Given the description of an element on the screen output the (x, y) to click on. 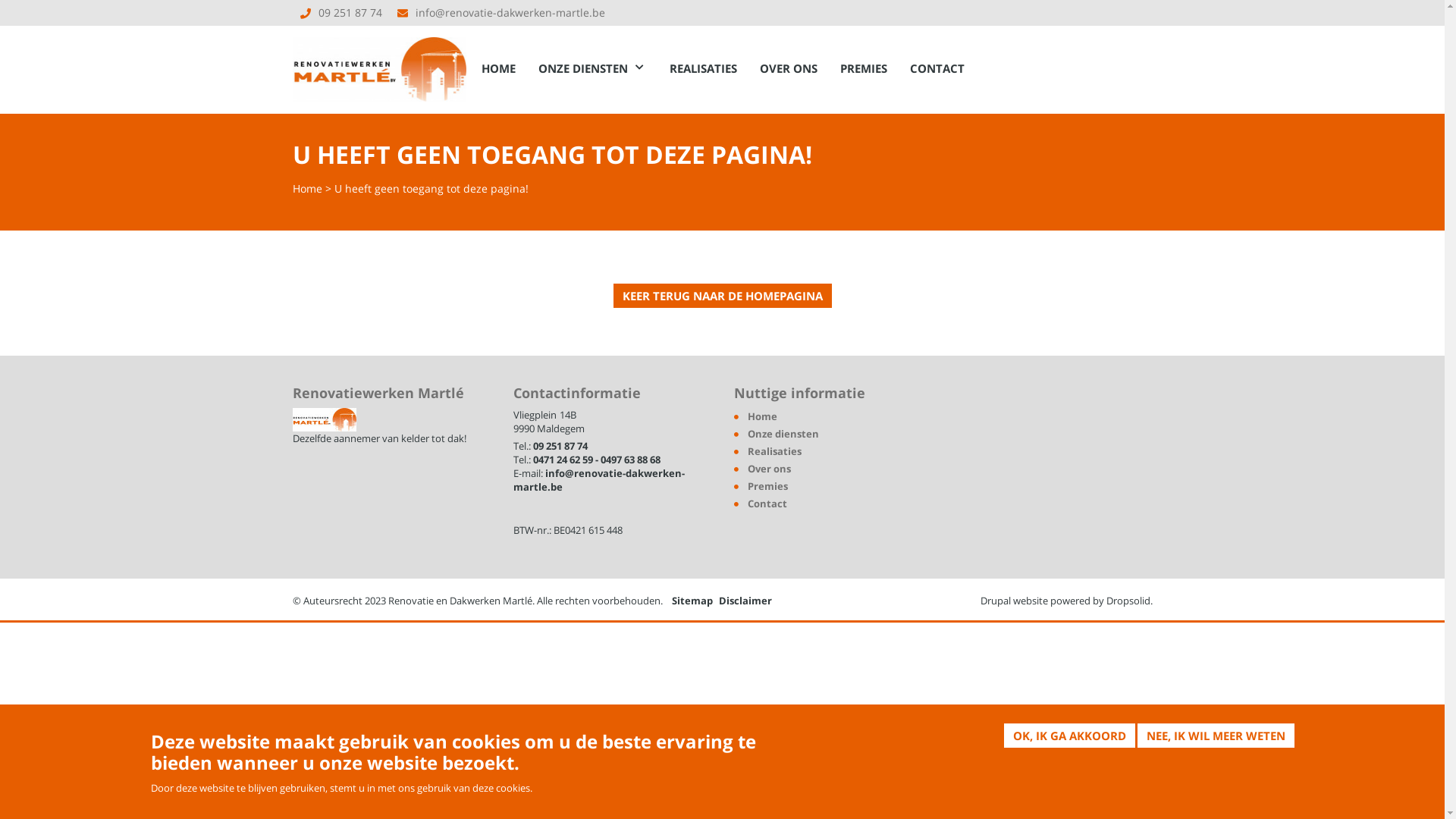
OVER ONS Element type: text (788, 68)
0471 24 62 59 - 0497 63 88 68 Element type: text (595, 459)
U heeft geen toegang tot deze pagina! Element type: text (430, 187)
Home Element type: text (307, 187)
ONZE DIENSTEN Element type: text (592, 68)
Disclaimer Element type: text (744, 600)
Realisaties Element type: text (774, 451)
Onze diensten Element type: text (783, 433)
CONTACT Element type: text (937, 68)
OK, IK GA AKKOORD Element type: text (1069, 735)
info@renovatie-dakwerken-martle.be Element type: text (510, 12)
Home Element type: hover (379, 63)
09 251 87 74 Element type: text (559, 445)
HOME Element type: text (498, 68)
Premies Element type: text (767, 485)
KEER TERUG NAAR DE HOMEPAGINA Element type: text (721, 295)
Sitemap Element type: text (691, 600)
Home Element type: text (762, 416)
Over ons Element type: text (768, 468)
PREMIES Element type: text (863, 68)
Contact Element type: text (767, 503)
REALISATIES Element type: text (703, 68)
NEE, IK WIL MEER WETEN Element type: text (1215, 735)
info@renovatie-dakwerken-martle.be Element type: text (598, 479)
09 251 87 74 Element type: text (350, 12)
